Given the description of an element on the screen output the (x, y) to click on. 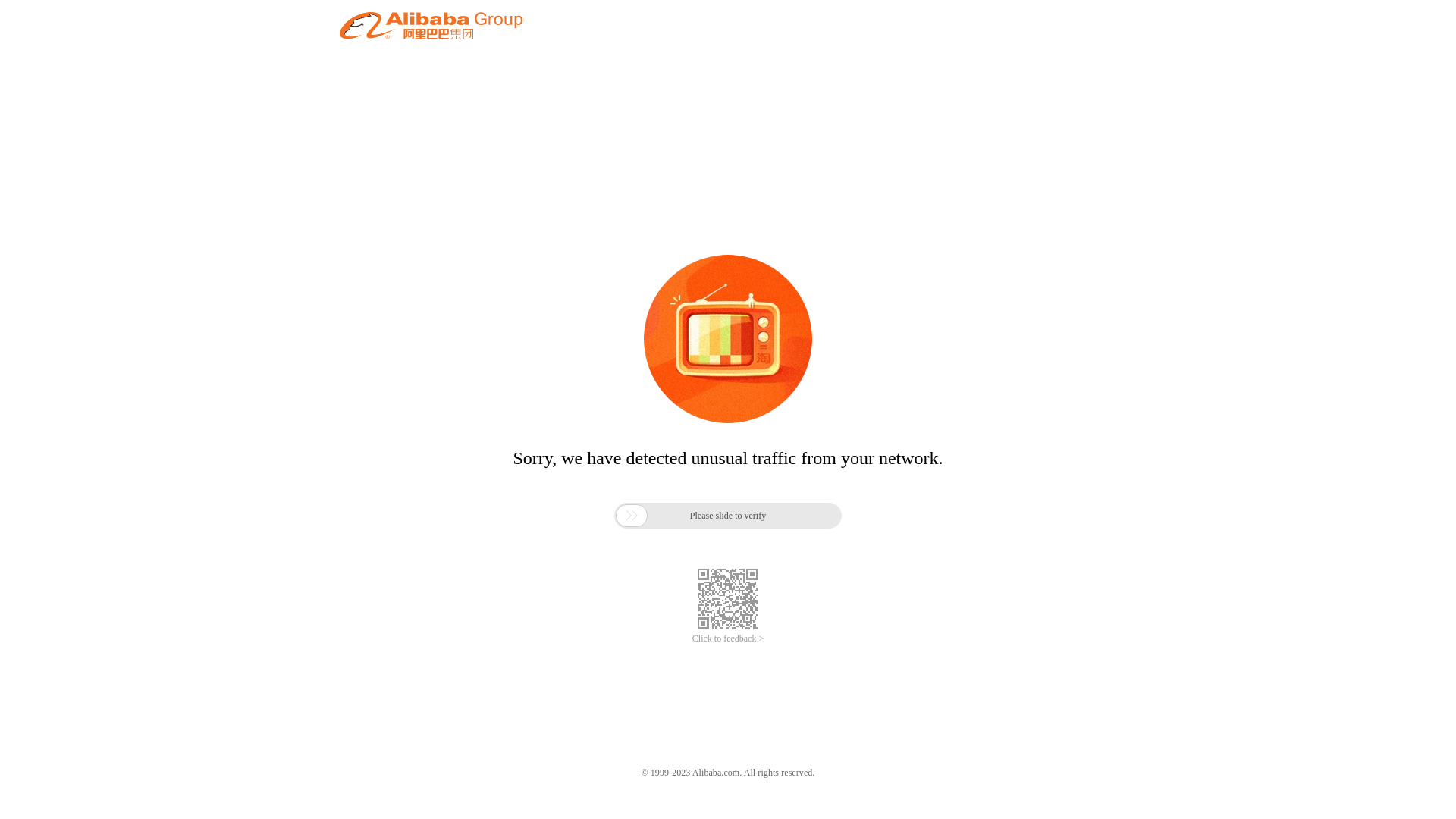
Click to feedback > Element type: text (727, 638)
